Given the description of an element on the screen output the (x, y) to click on. 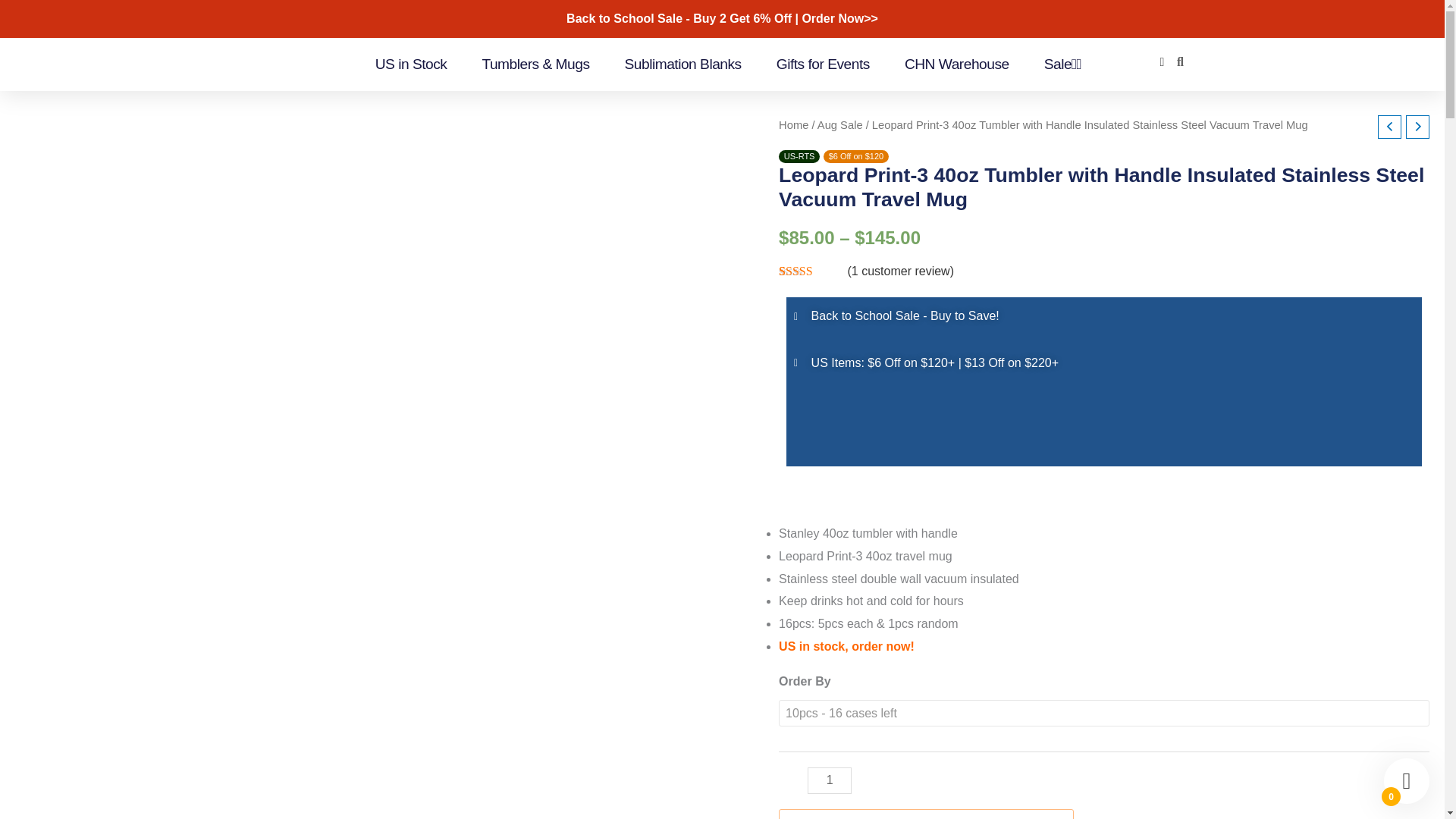
CHN Warehouse (956, 64)
Sublimation Blanks (682, 64)
Gifts for Events (822, 64)
1 (829, 780)
US in Stock (410, 64)
